Given the description of an element on the screen output the (x, y) to click on. 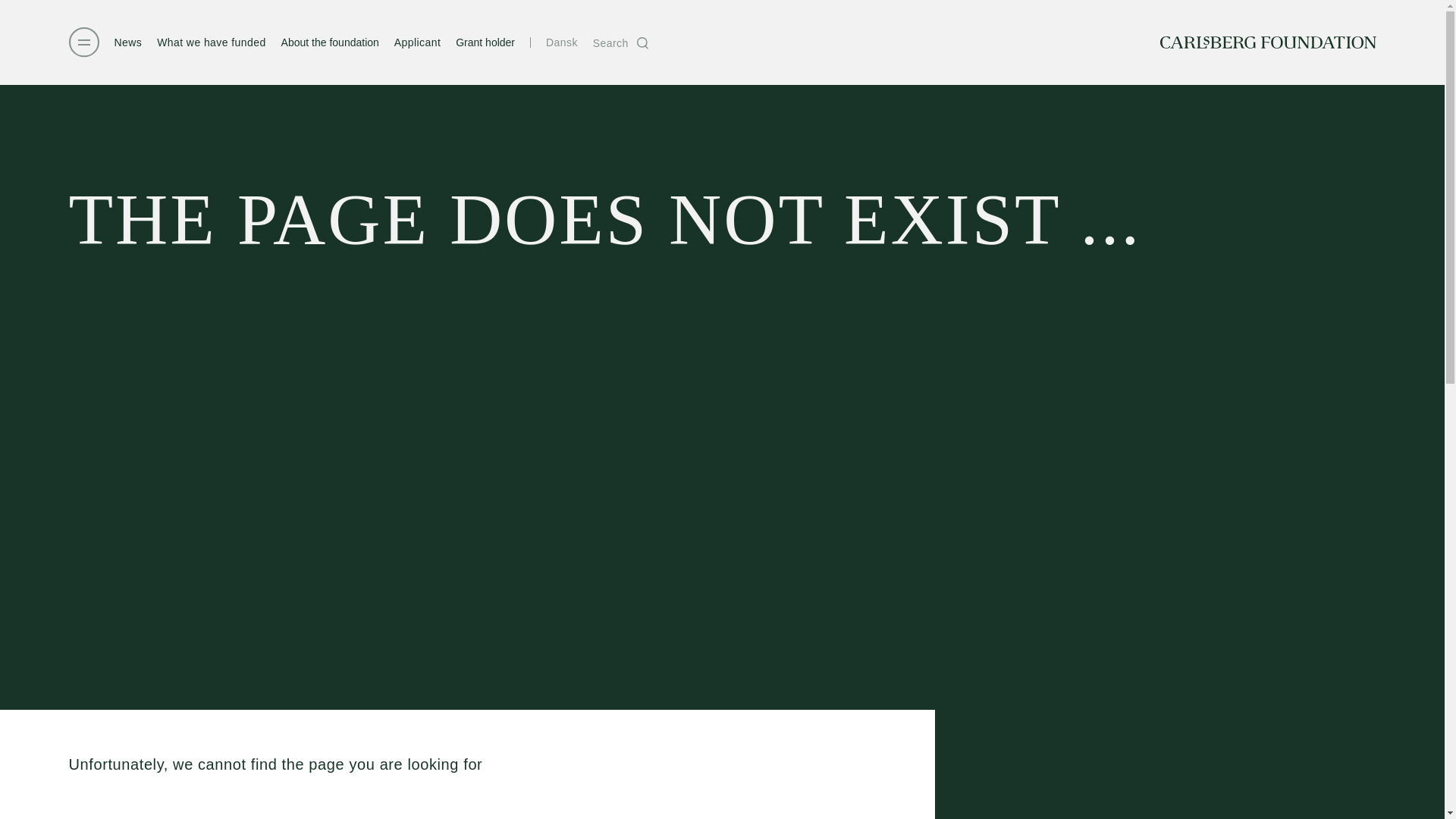
What we have funded (210, 42)
About the foundation (329, 42)
News (127, 42)
Dansk (562, 41)
Search (621, 42)
Applicant (417, 42)
Grant holder (485, 42)
